Given the description of an element on the screen output the (x, y) to click on. 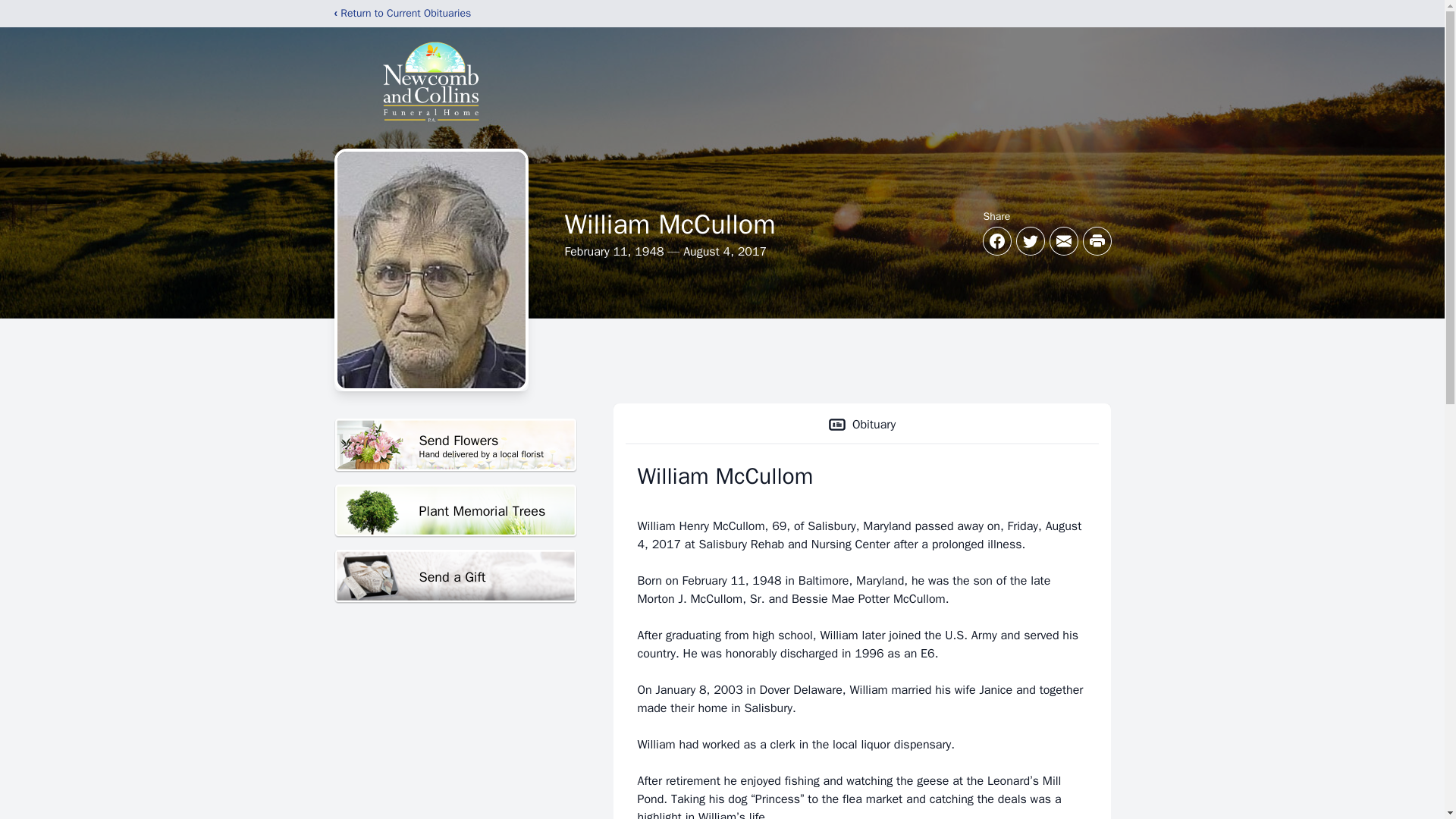
Plant Memorial Trees (454, 511)
Obituary (860, 425)
Send a Gift (454, 445)
